Given the description of an element on the screen output the (x, y) to click on. 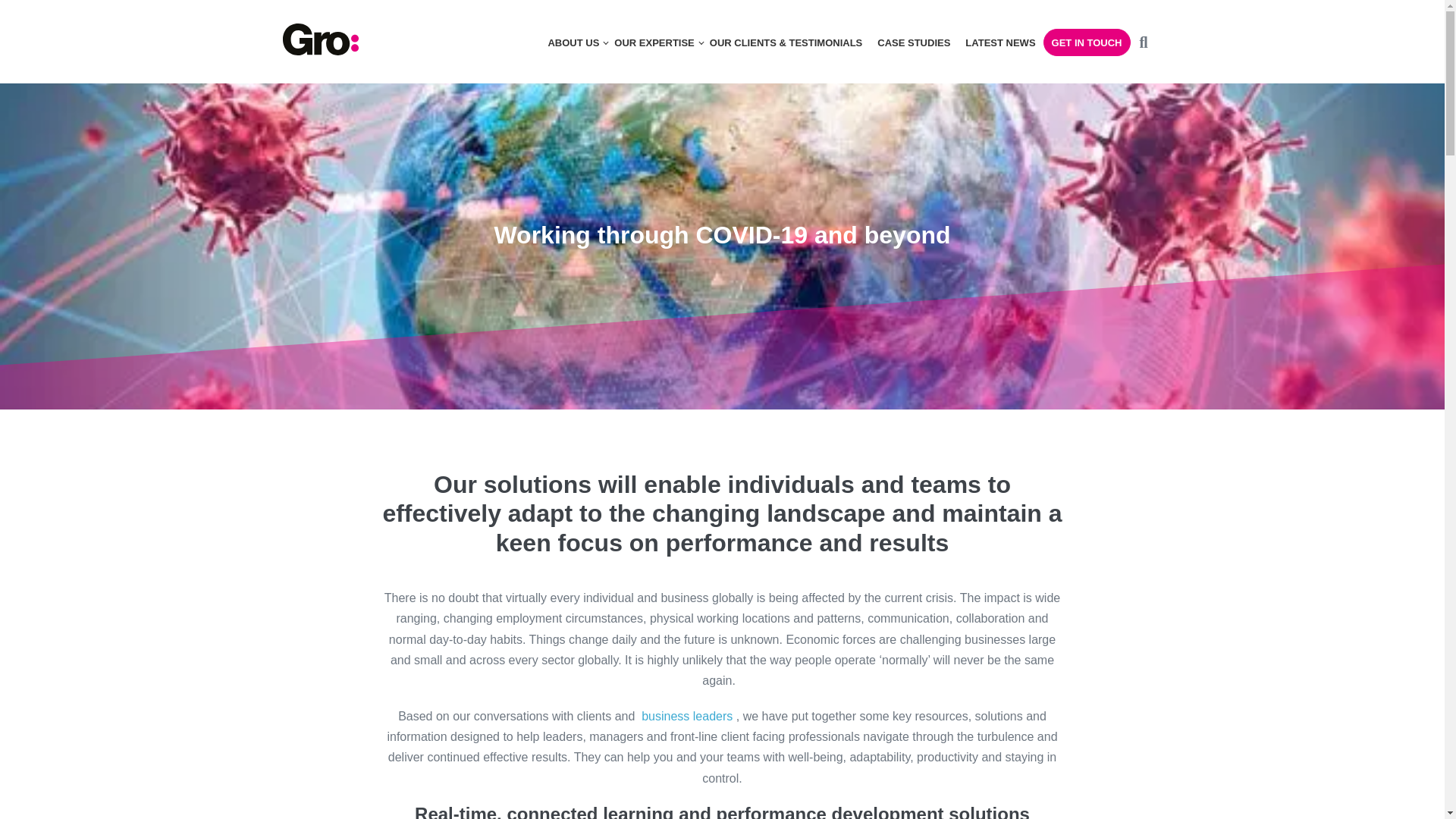
CASE STUDIES (913, 42)
OUR EXPERTISE (654, 42)
LATEST NEWS (1000, 42)
ABOUT US (573, 42)
business leaders (687, 716)
GET IN TOUCH (1087, 42)
